Given the description of an element on the screen output the (x, y) to click on. 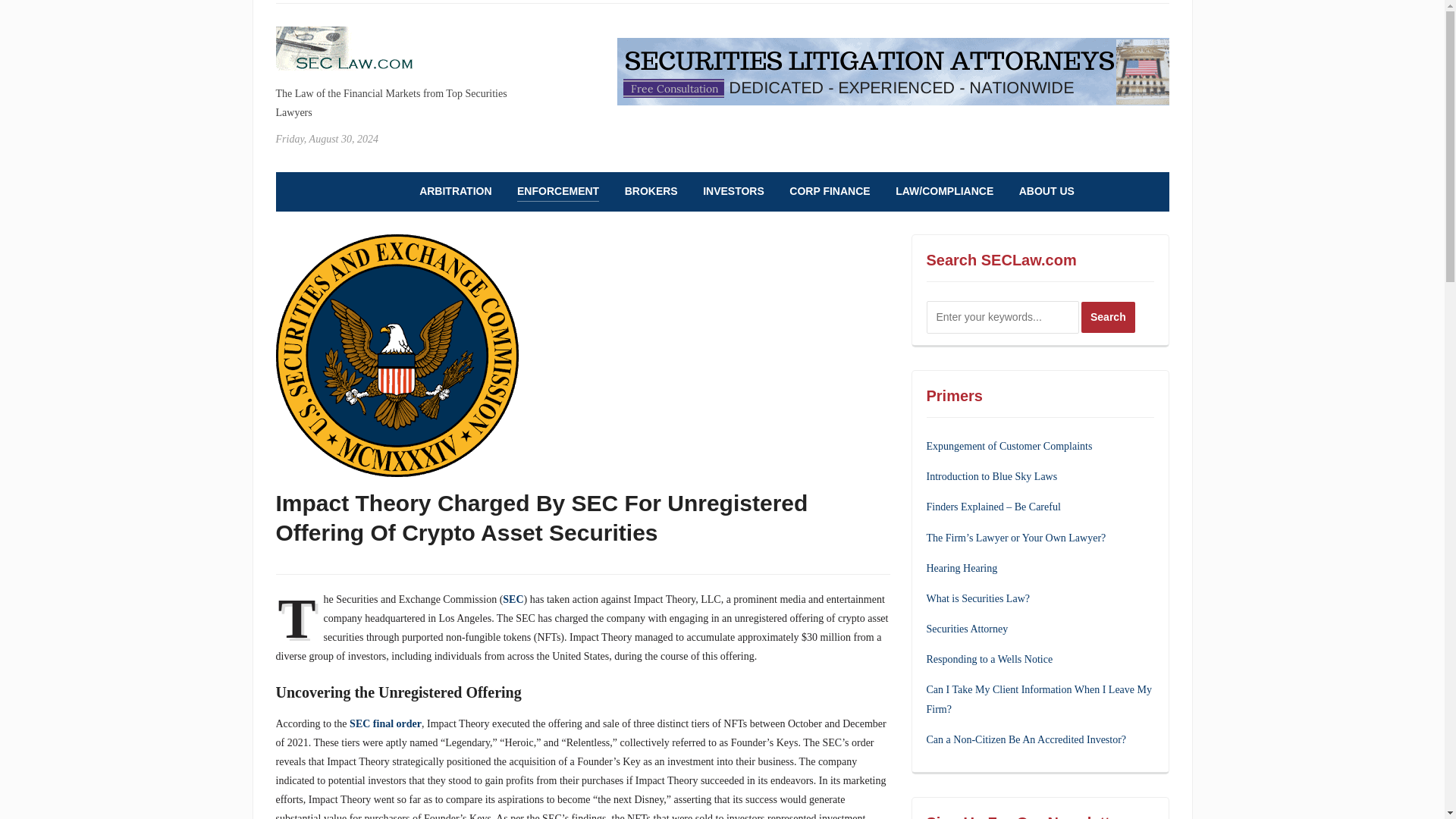
Search (1108, 317)
ARBITRATION (455, 190)
Search (1108, 317)
INVESTORS (733, 190)
ENFORCEMENT (557, 191)
BROKERS (651, 190)
